Given the description of an element on the screen output the (x, y) to click on. 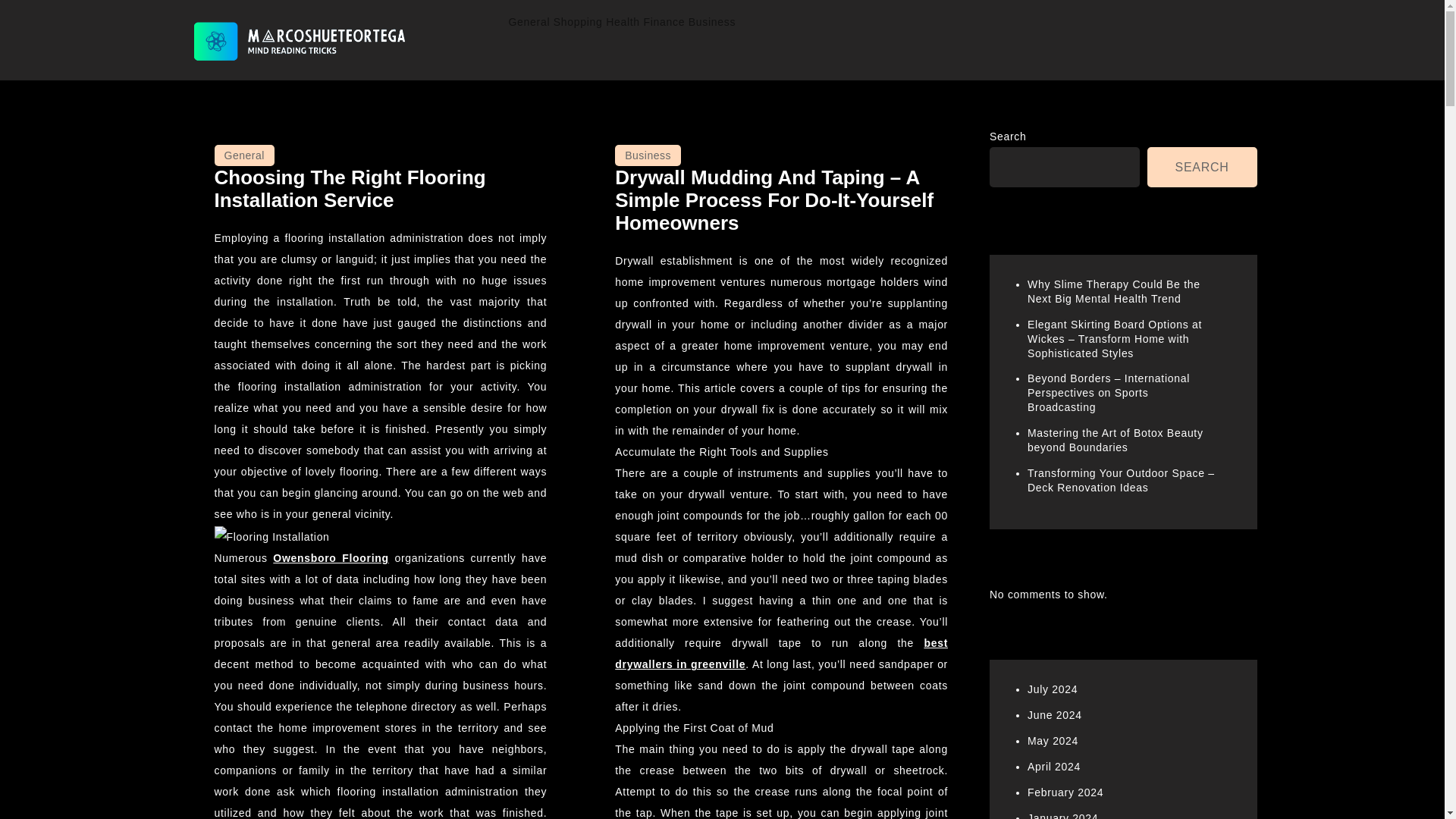
Mind Reading Tricks (302, 82)
Finance (663, 21)
General (243, 155)
Business (647, 155)
General (529, 21)
Health (622, 21)
Shopping (577, 21)
Choosing The Right Flooring Installation Service (349, 188)
Owensboro Flooring (330, 558)
best drywallers in greenville (780, 653)
Business (711, 21)
